Given the description of an element on the screen output the (x, y) to click on. 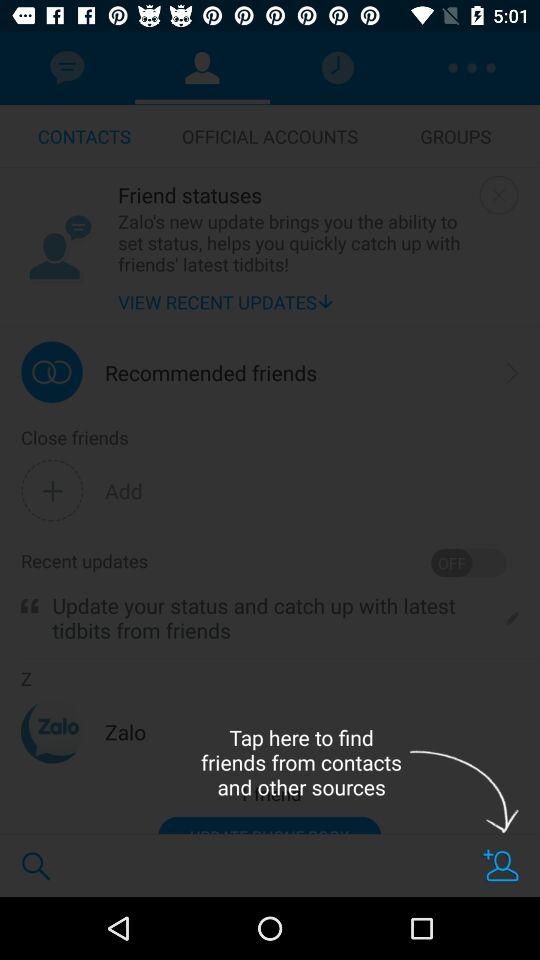
close (498, 194)
